Given the description of an element on the screen output the (x, y) to click on. 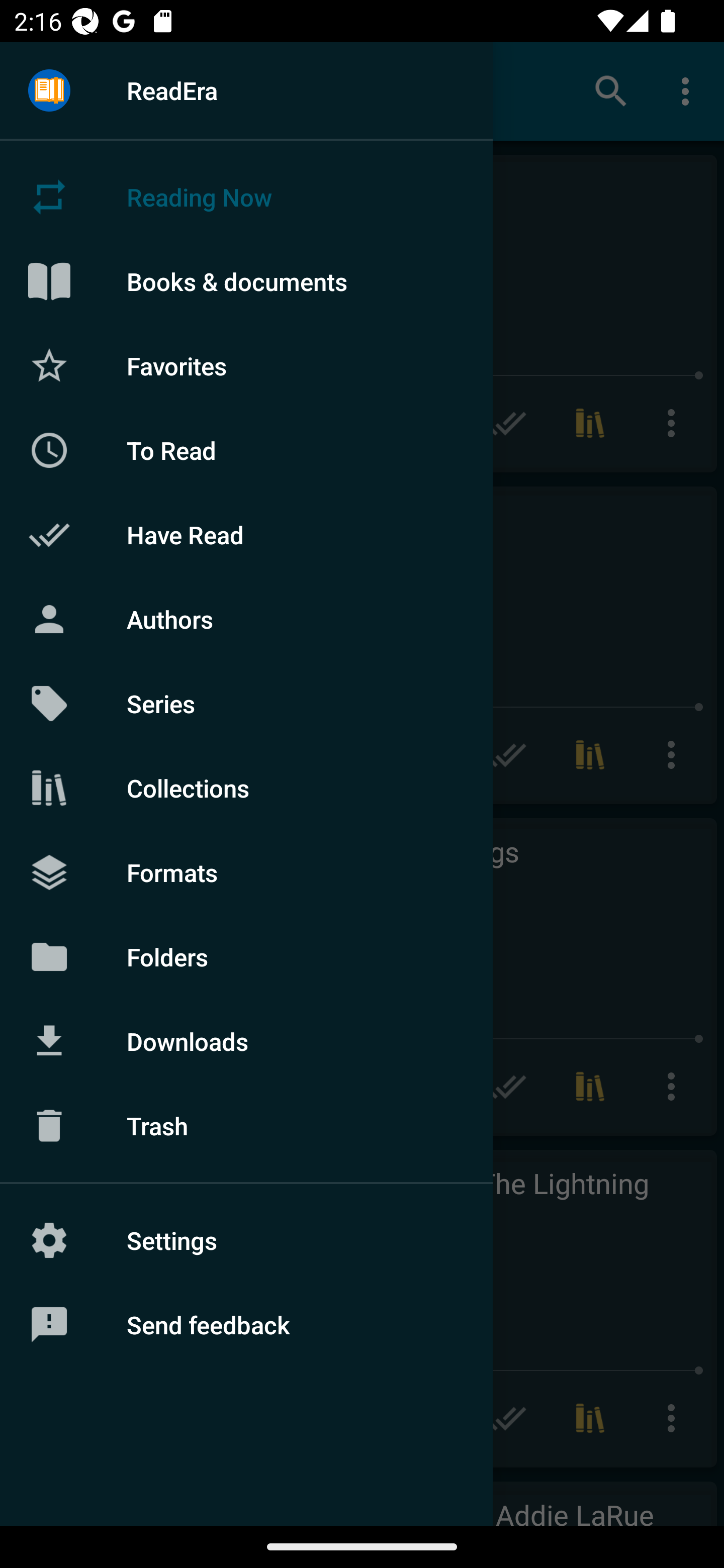
Menu (49, 91)
ReadEra (246, 89)
Search books & documents (611, 90)
More options (688, 90)
Reading Now (246, 197)
Books & documents (246, 281)
Favorites (246, 365)
To Read (246, 449)
Have Read (246, 534)
Authors (246, 619)
Series (246, 703)
Collections (246, 787)
Formats (246, 871)
Folders (246, 956)
Downloads (246, 1040)
Trash (246, 1125)
Settings (246, 1239)
Send feedback (246, 1324)
